Given the description of an element on the screen output the (x, y) to click on. 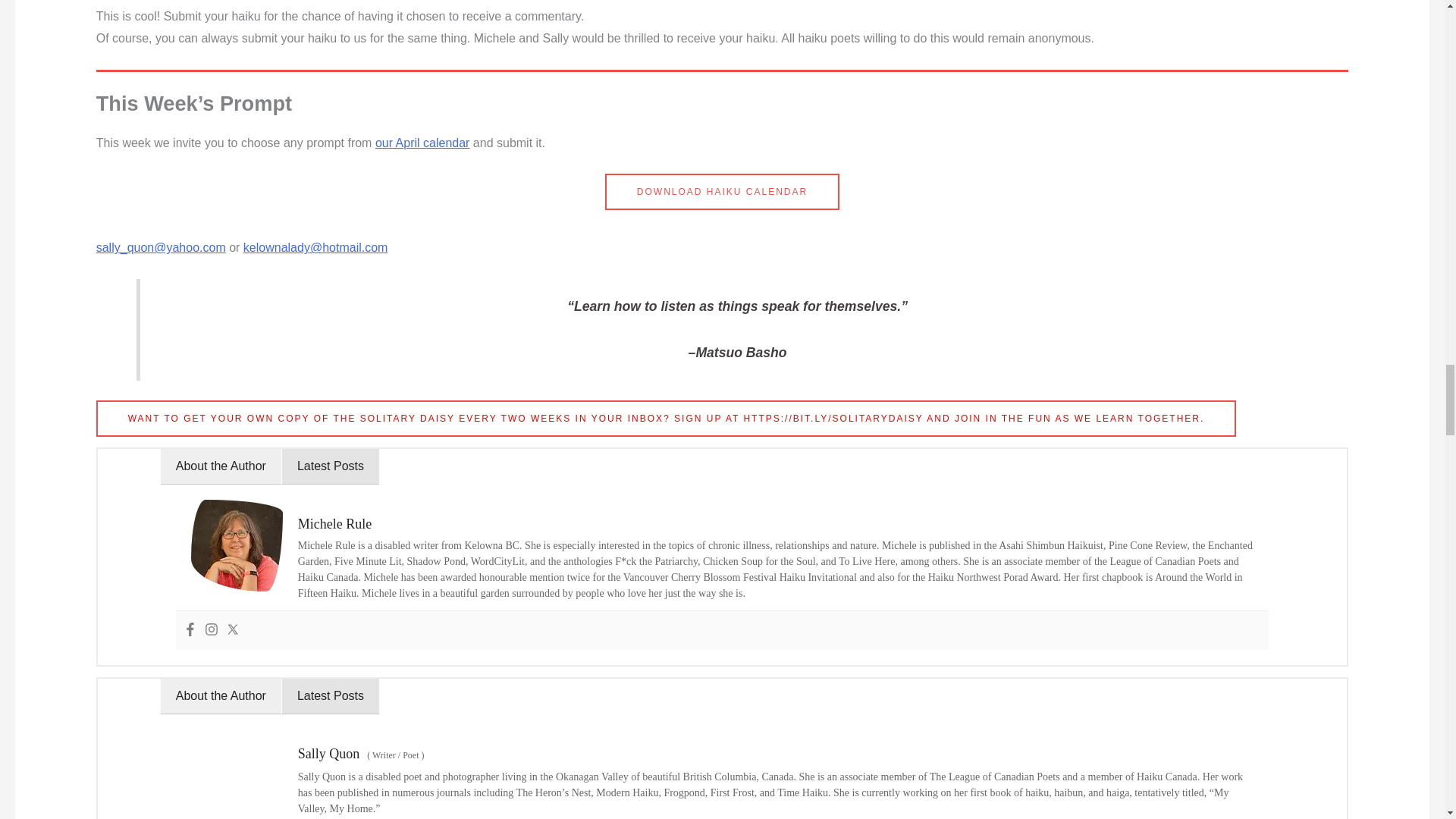
our April calendar (422, 142)
DOWNLOAD HAIKU CALENDAR (722, 191)
